Given the description of an element on the screen output the (x, y) to click on. 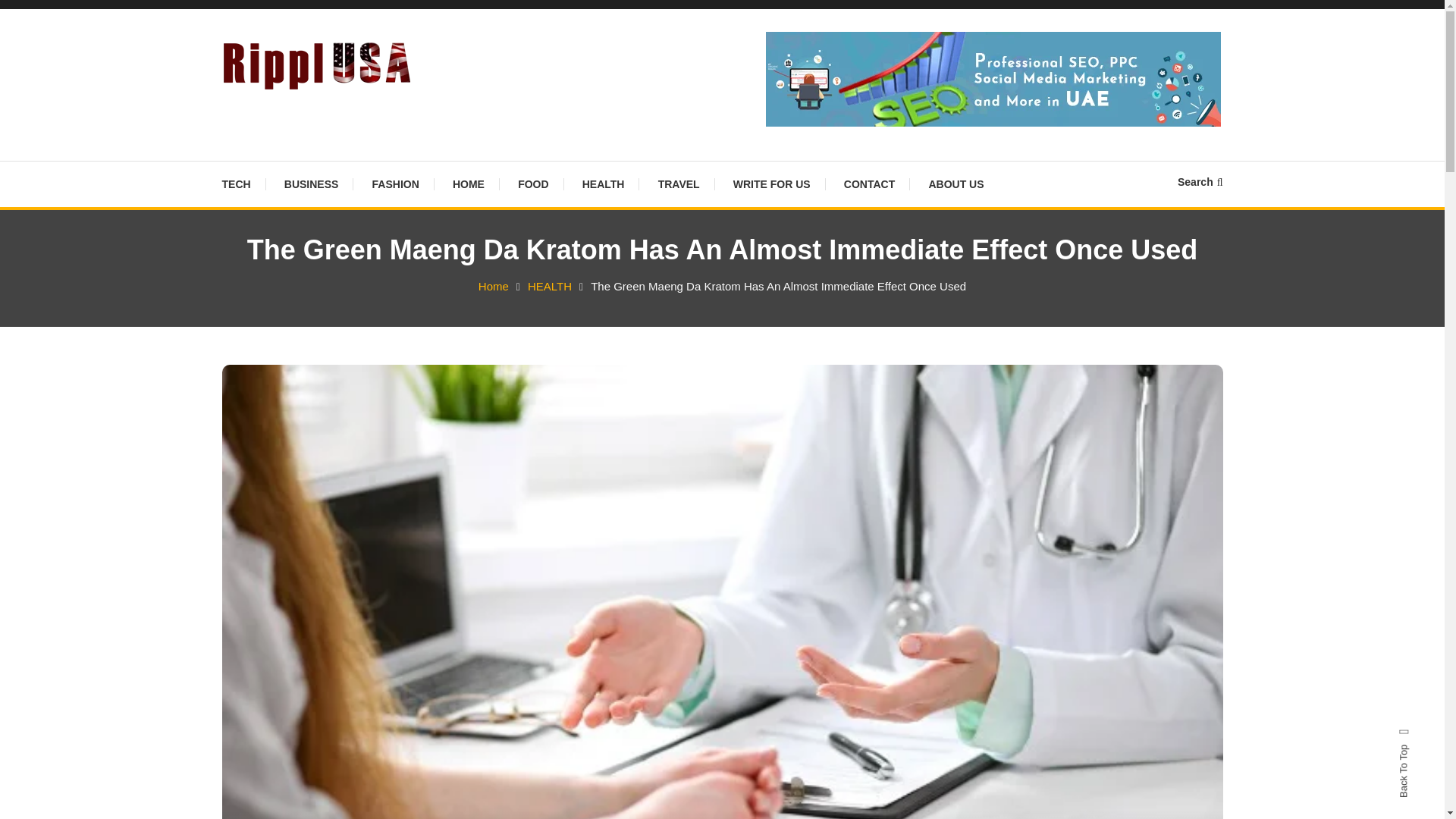
ABOUT US (955, 184)
Search (768, 432)
TECH (242, 184)
HEALTH (603, 184)
TRAVEL (678, 184)
HOME (468, 184)
FOOD (532, 184)
FASHION (394, 184)
Home (493, 286)
Rippl USA (288, 112)
WRITE FOR US (771, 184)
HEALTH (549, 286)
CONTACT (869, 184)
BUSINESS (311, 184)
